Given the description of an element on the screen output the (x, y) to click on. 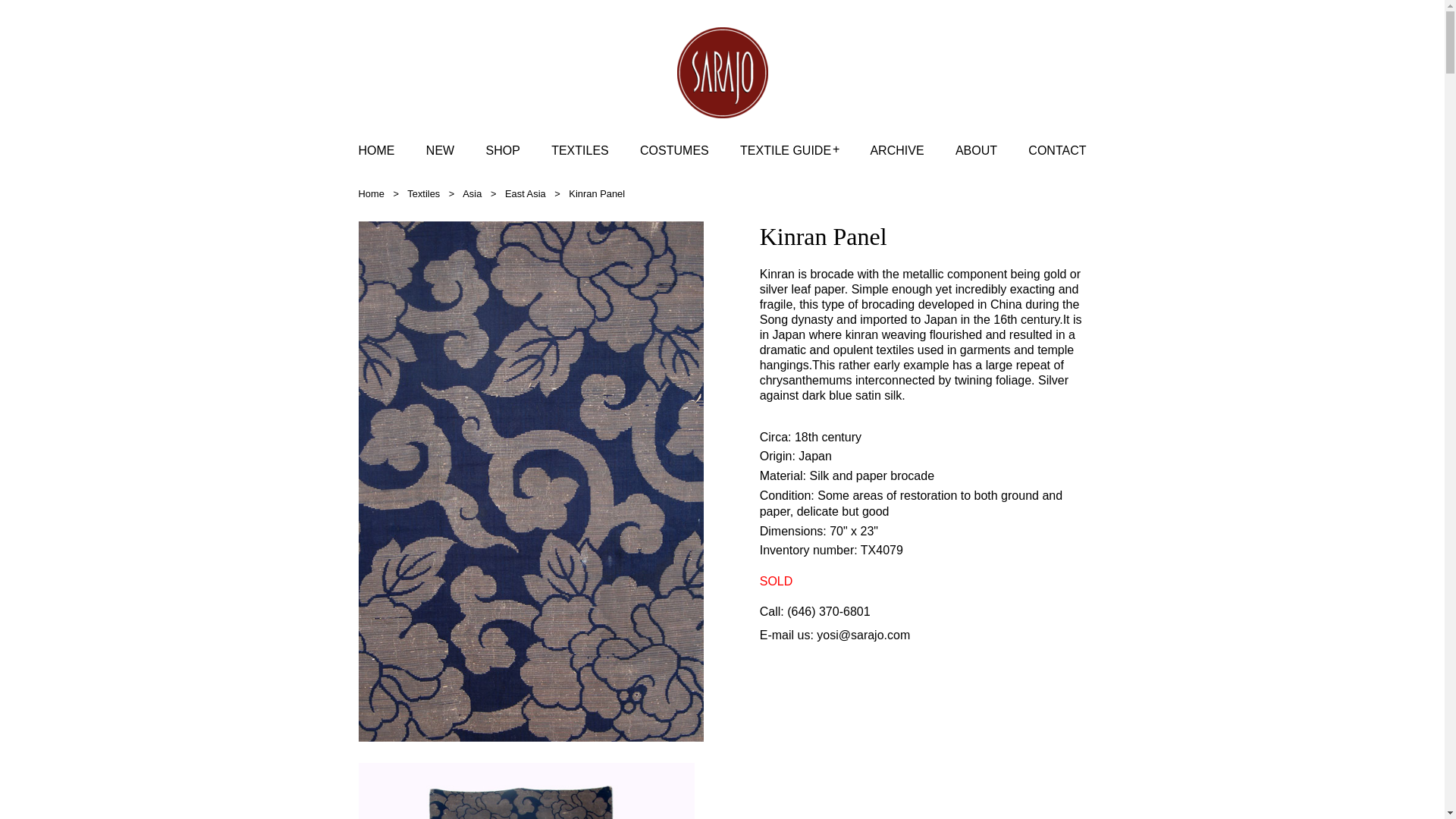
SHOP (501, 150)
Asia (472, 193)
NEW (440, 150)
ABOUT (976, 150)
HOME (376, 150)
Search for: (1074, 107)
Textiles (423, 193)
Search (22, 9)
ARCHIVE (896, 150)
TEXTILE GUIDE (785, 150)
